Given the description of an element on the screen output the (x, y) to click on. 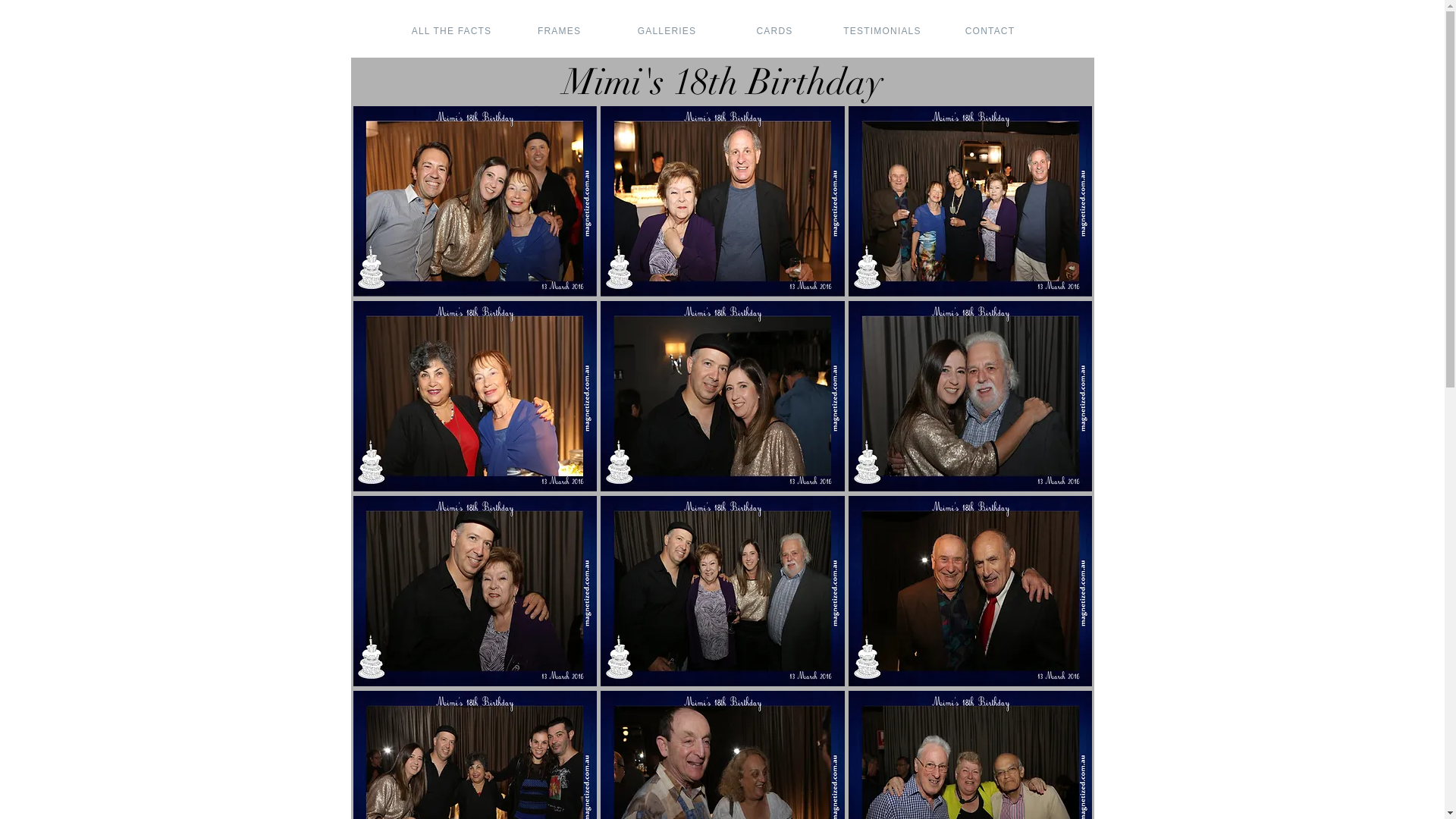
TESTIMONIALS Element type: text (883, 30)
FRAMES Element type: text (560, 30)
GALLERIES Element type: text (667, 30)
CONTACT Element type: text (990, 30)
CARDS Element type: text (775, 30)
ALL THE FACTS Element type: text (452, 30)
